Given the description of an element on the screen output the (x, y) to click on. 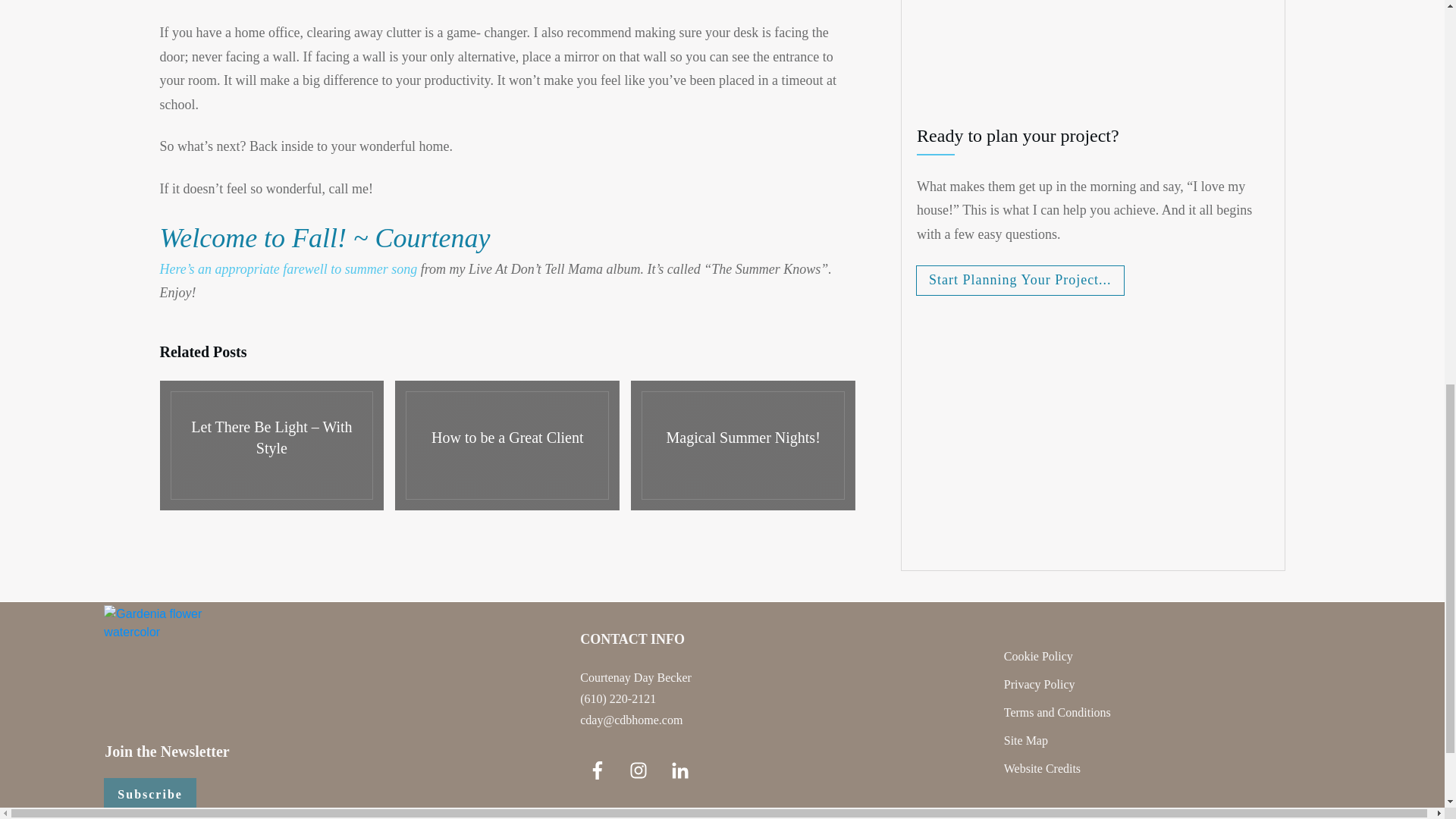
Website Credits (1042, 768)
Magical Summer Nights! (743, 445)
CDB Home Royersford Project After Pictures (1154, 54)
Cookie Policy (1038, 656)
Terms and Conditions (1057, 712)
Gardenia flower watercolor (170, 672)
How to be a Great Client (507, 445)
Subscribe (149, 794)
Start Planning Your Project... (1019, 280)
Privacy Policy (1039, 684)
